Given the description of an element on the screen output the (x, y) to click on. 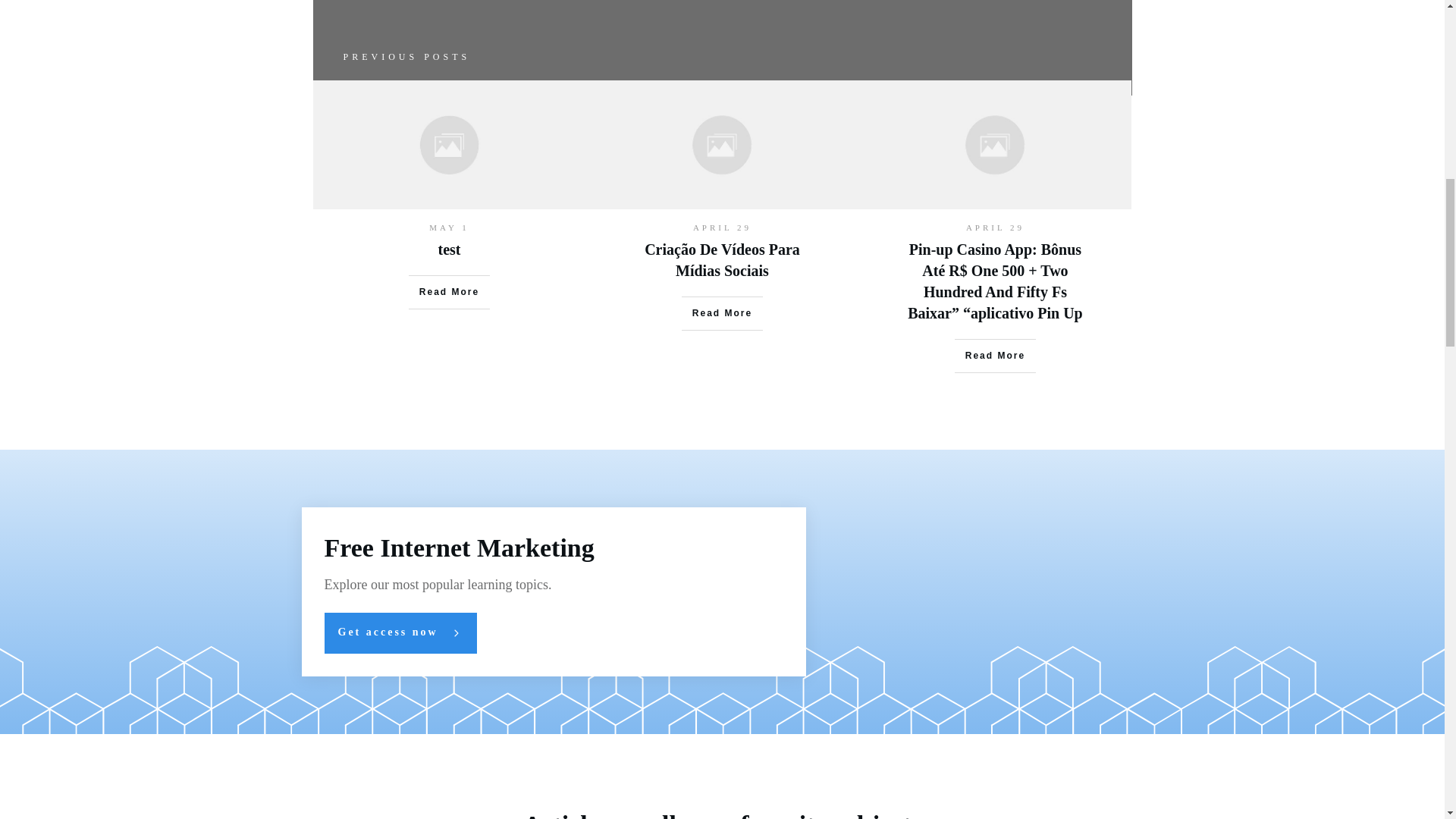
Read More (449, 291)
Read More (721, 313)
Get access now (400, 632)
Read More (995, 355)
test (449, 248)
test (449, 248)
